Given the description of an element on the screen output the (x, y) to click on. 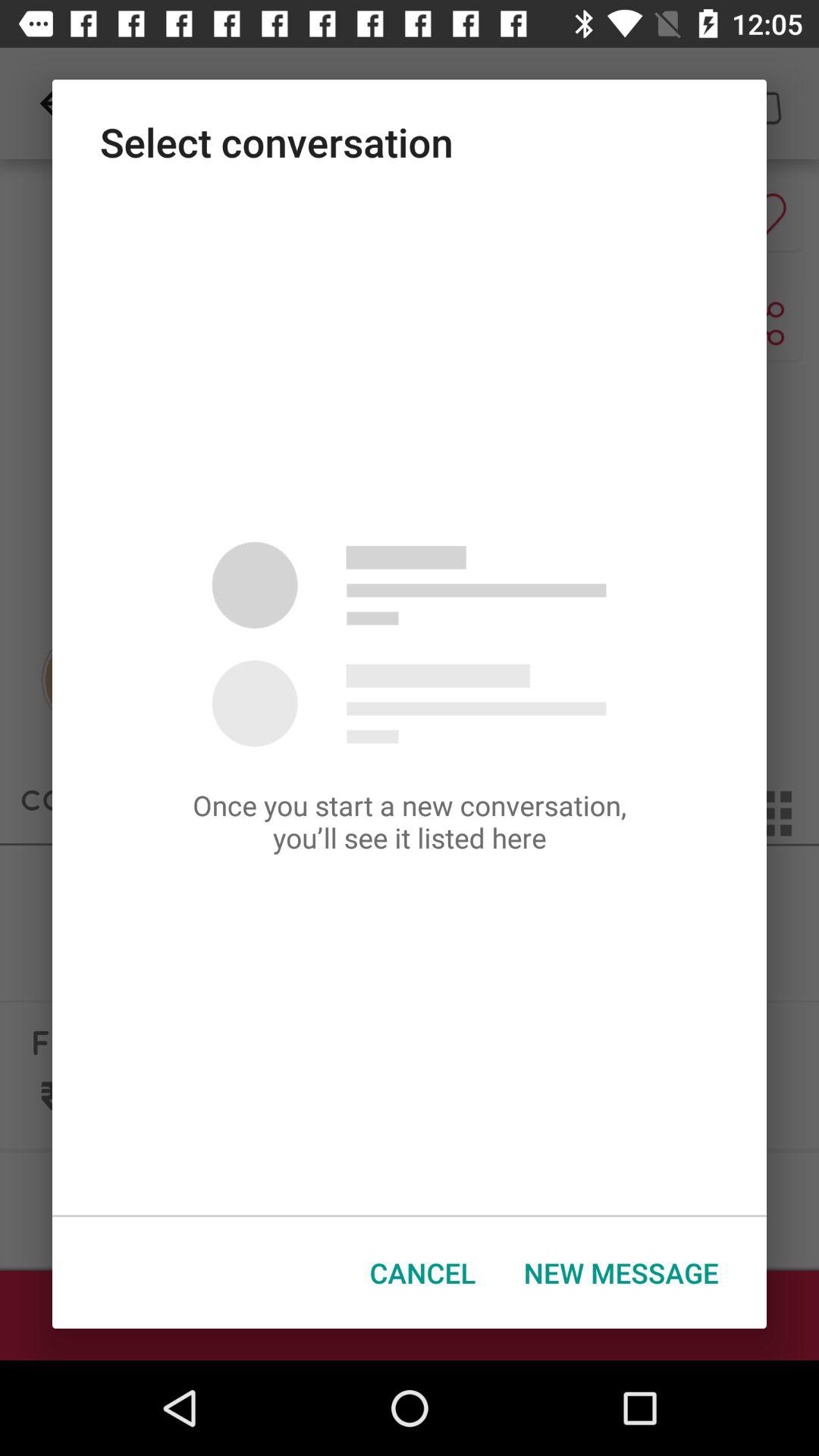
open the cancel icon (422, 1272)
